Given the description of an element on the screen output the (x, y) to click on. 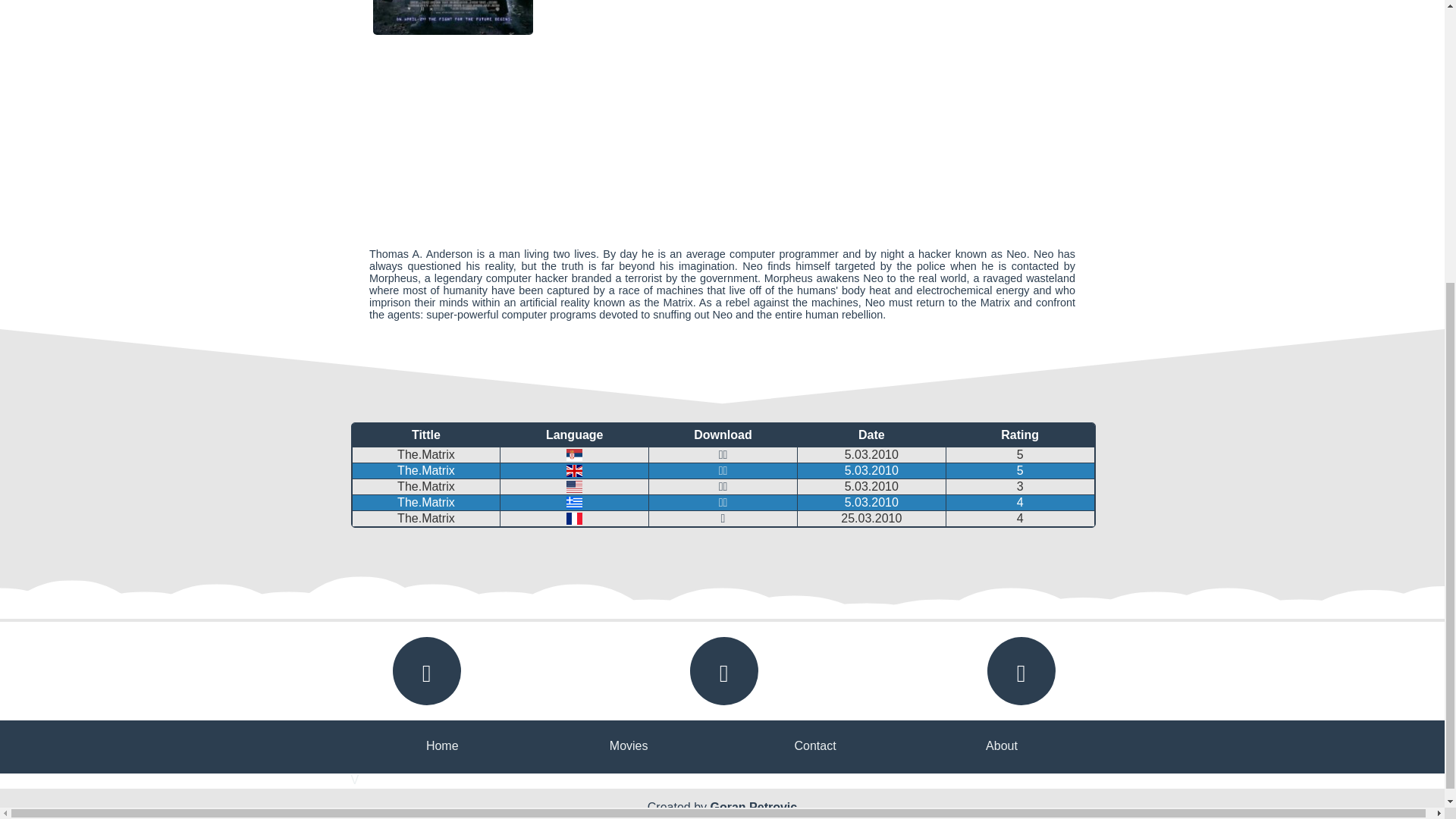
Goran Petrovic (753, 807)
